Given the description of an element on the screen output the (x, y) to click on. 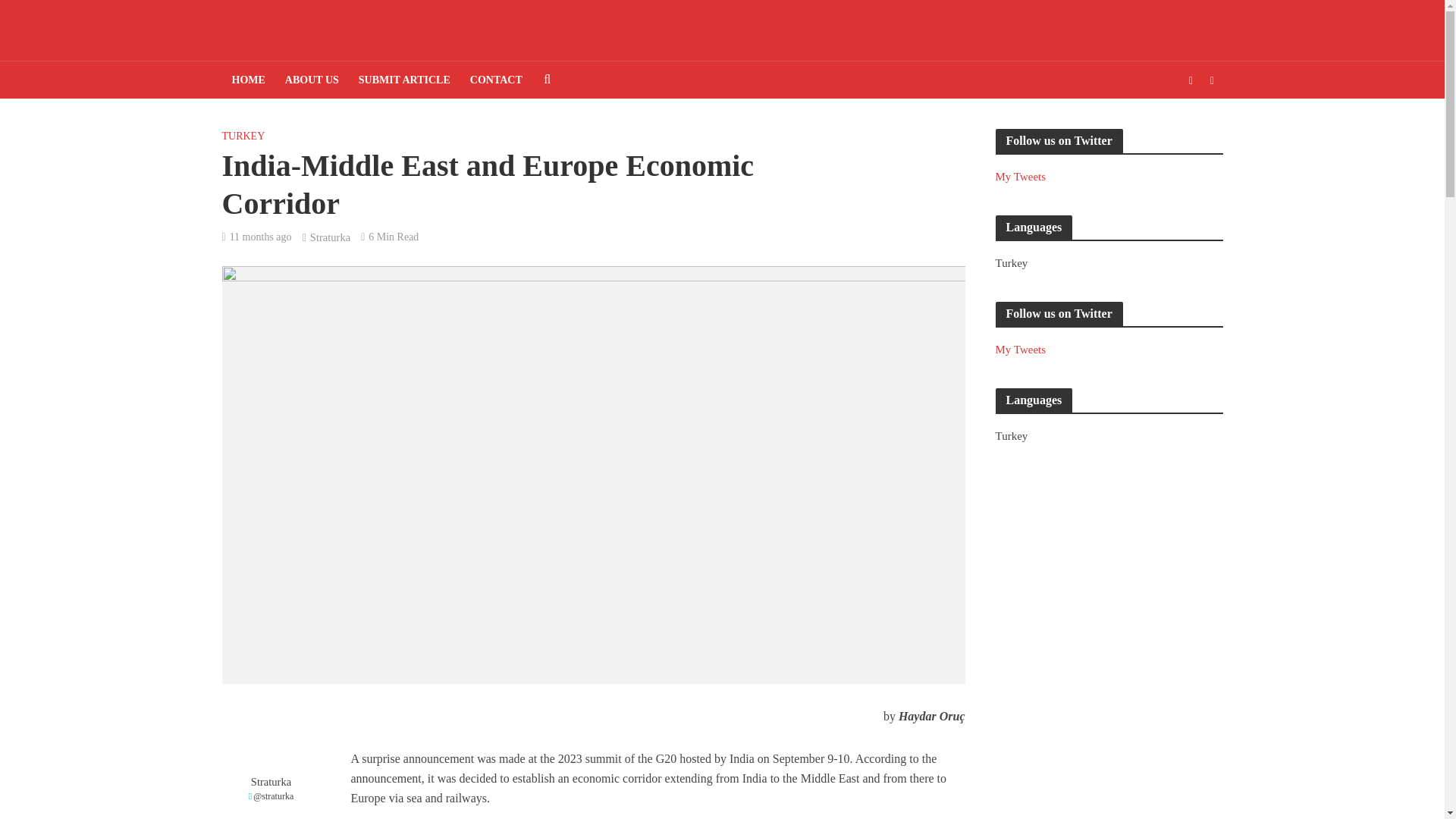
SUBMIT ARTICLE (404, 80)
Straturka (330, 238)
TURKEY (242, 137)
ABOUT US (312, 80)
Straturka (270, 781)
HOME (248, 80)
CONTACT (496, 80)
